Given the description of an element on the screen output the (x, y) to click on. 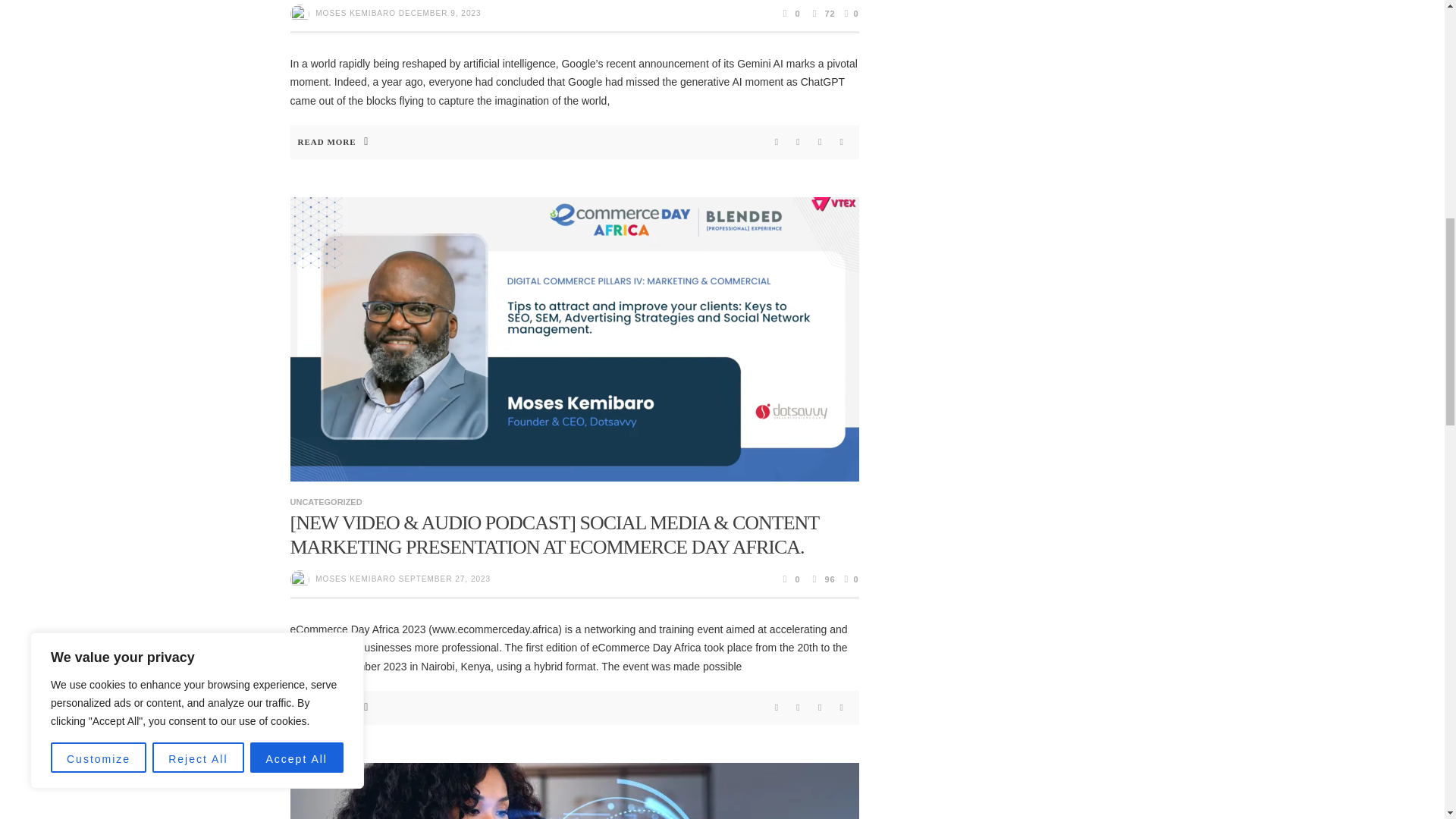
MOSES KEMIBARO (355, 13)
View all posts in Uncategorized (325, 501)
Comments (790, 578)
Likes (849, 13)
Share to Twitter (798, 141)
View all posts by Moses Kemibaro (355, 13)
Share to Facebook (776, 141)
Share to Pinterest (819, 141)
Comments (790, 13)
View all posts by Moses Kemibaro (355, 578)
